Given the description of an element on the screen output the (x, y) to click on. 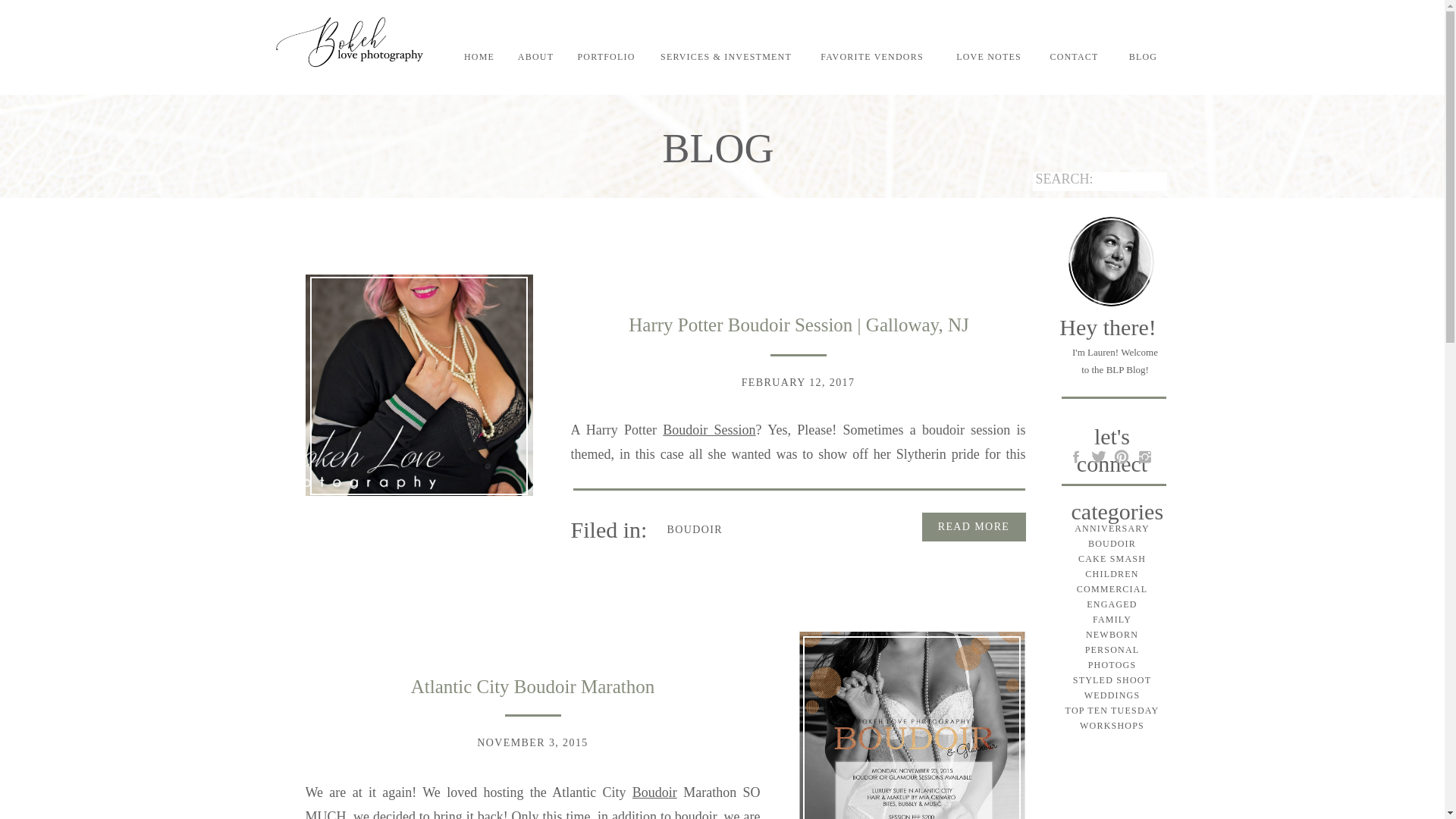
BLOG (1143, 60)
PORTFOLIO (606, 60)
READ MORE (974, 527)
PHOTOGS (1112, 664)
WEDDINGS (1112, 694)
LOVE NOTES (988, 60)
FAVORITE VENDORS (871, 60)
ENGAGED (1112, 603)
COMMERCIAL (1112, 588)
WORKSHOPS (1112, 725)
NEWBORN (1112, 634)
PERSONAL (1112, 649)
CAKE SMASH (1112, 558)
STYLED SHOOT (1112, 679)
HOME (479, 58)
